Given the description of an element on the screen output the (x, y) to click on. 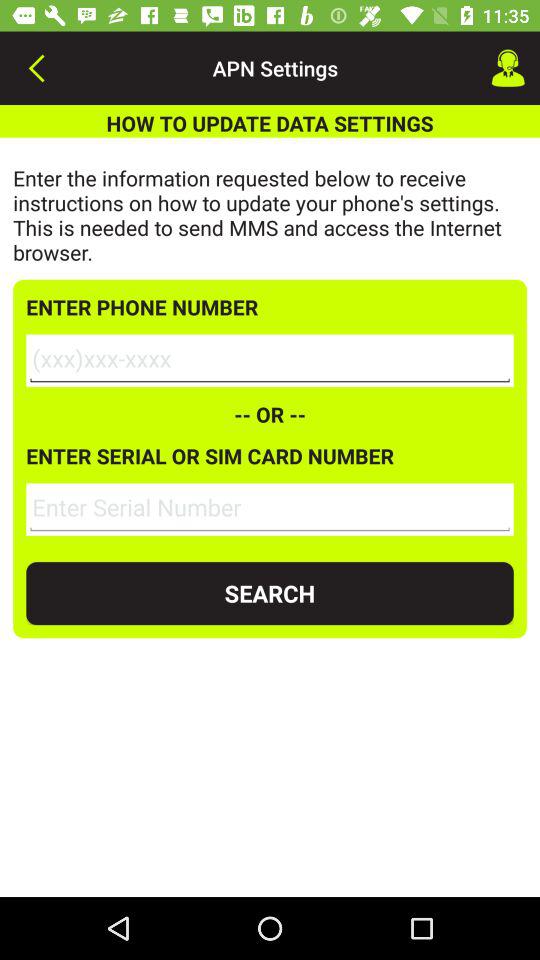
open the search icon (269, 593)
